Given the description of an element on the screen output the (x, y) to click on. 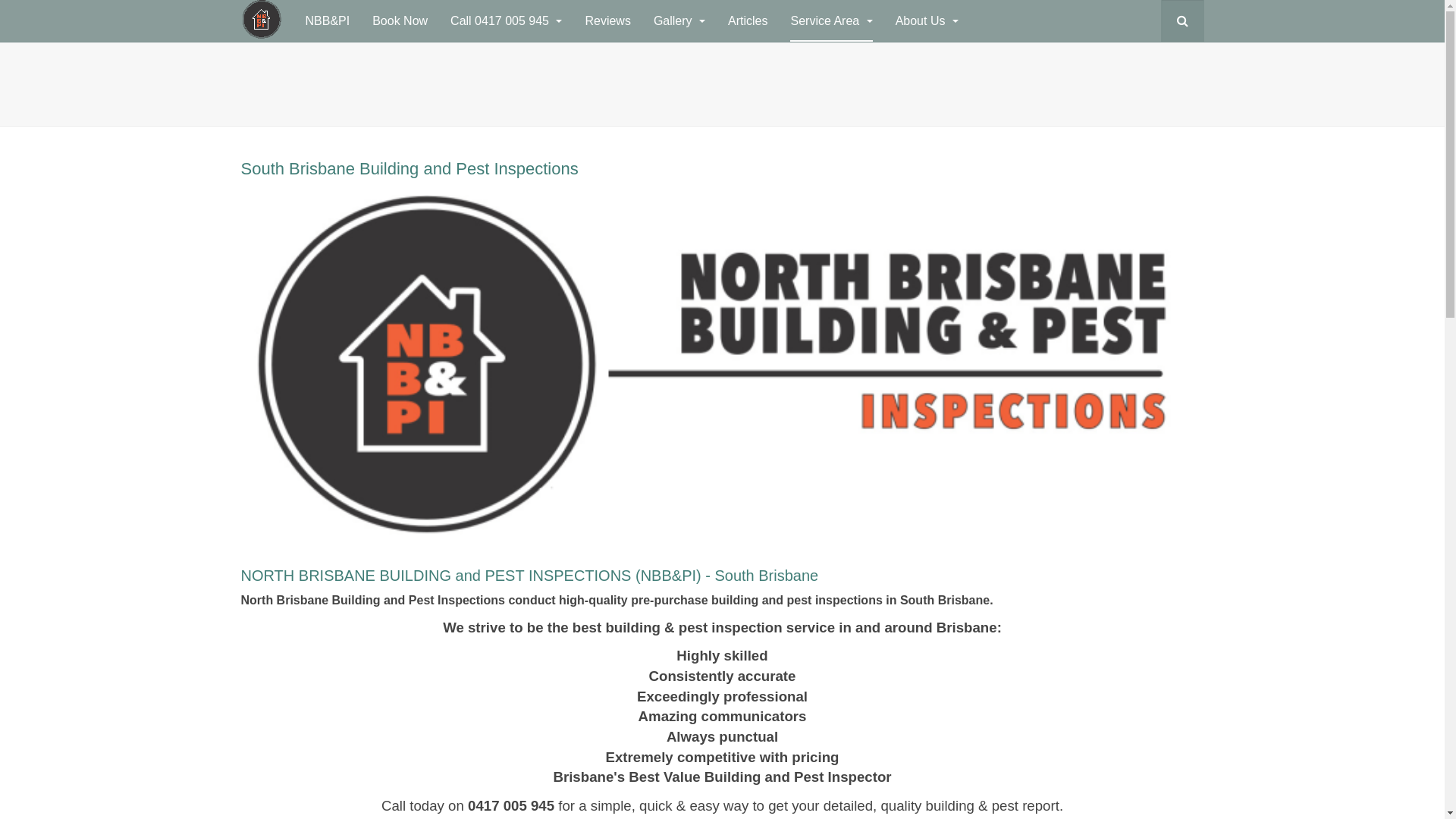
South Brisbane Building and Pest Inspections Element type: text (409, 168)
Brisbane Building and Pest Inspections Element type: hover (0, 83)
Brisbane Inspections Element type: hover (261, 19)
Reviews Element type: text (607, 20)
Gallery Element type: text (679, 20)
Articles Element type: text (747, 20)
NBB&PI Element type: text (326, 20)
Book Now Element type: text (399, 20)
About Us Element type: text (926, 20)
Call 0417 005 945 Element type: text (505, 20)
Service Area Element type: text (831, 20)
